Given the description of an element on the screen output the (x, y) to click on. 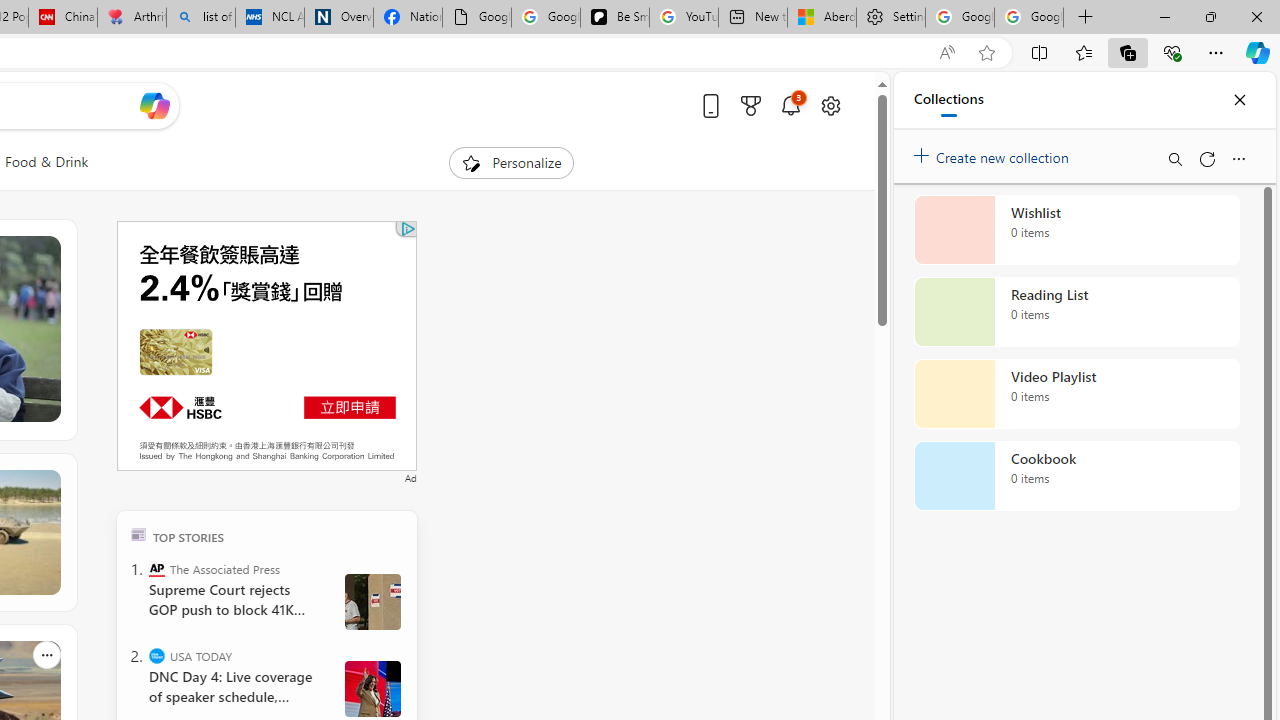
Aberdeen, Hong Kong SAR hourly forecast | Microsoft Weather (822, 17)
Class: qc-adchoices-link top-right  (406, 228)
Personalize (511, 162)
Video Playlist collection, 0 items (1076, 394)
Create new collection (994, 153)
Open settings (830, 105)
Reading List collection, 0 items (1076, 312)
Food & Drink (47, 162)
